Given the description of an element on the screen output the (x, y) to click on. 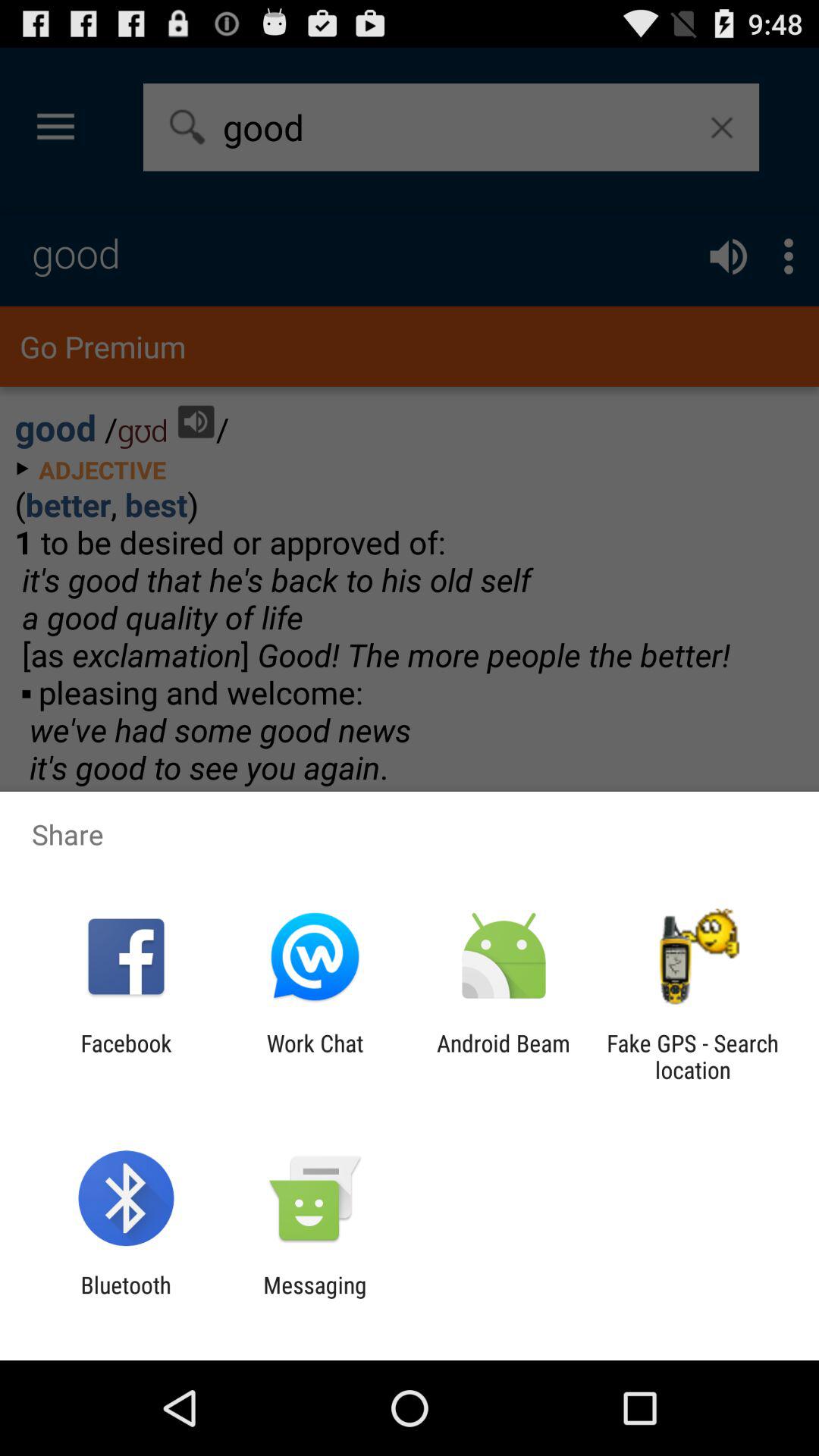
open the facebook (125, 1056)
